Given the description of an element on the screen output the (x, y) to click on. 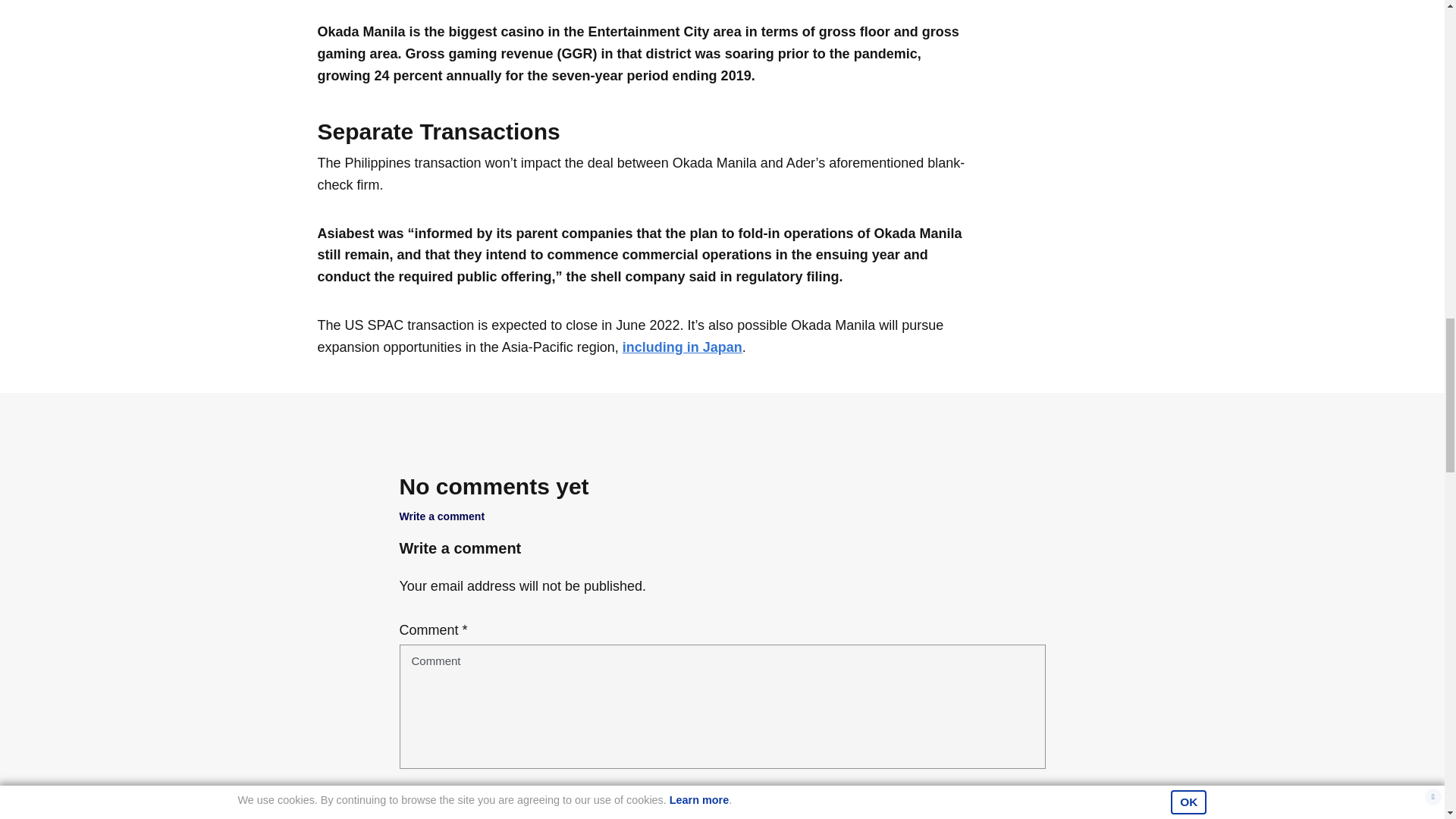
including in Japan (682, 346)
